Given the description of an element on the screen output the (x, y) to click on. 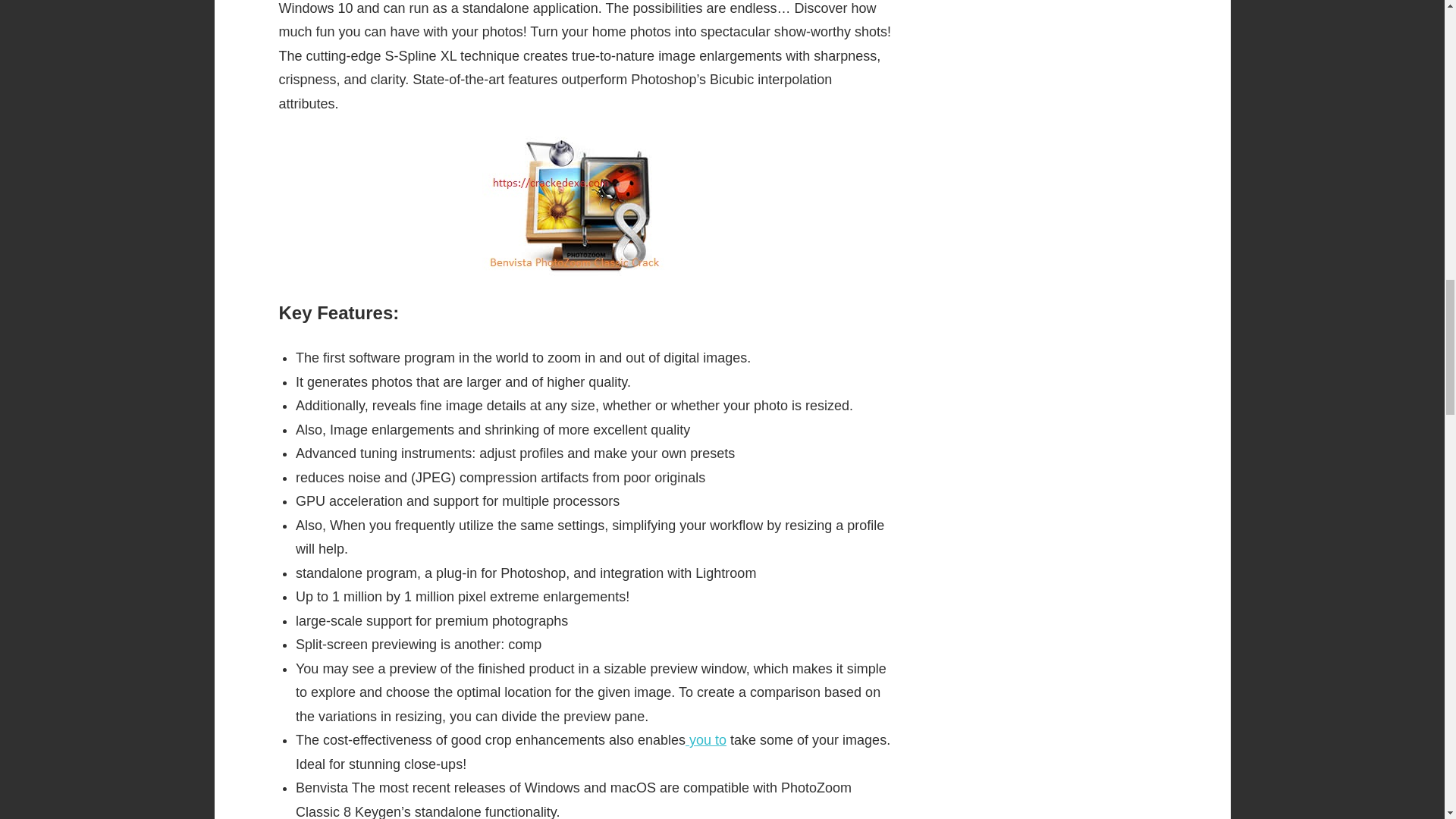
you to (705, 739)
